Given the description of an element on the screen output the (x, y) to click on. 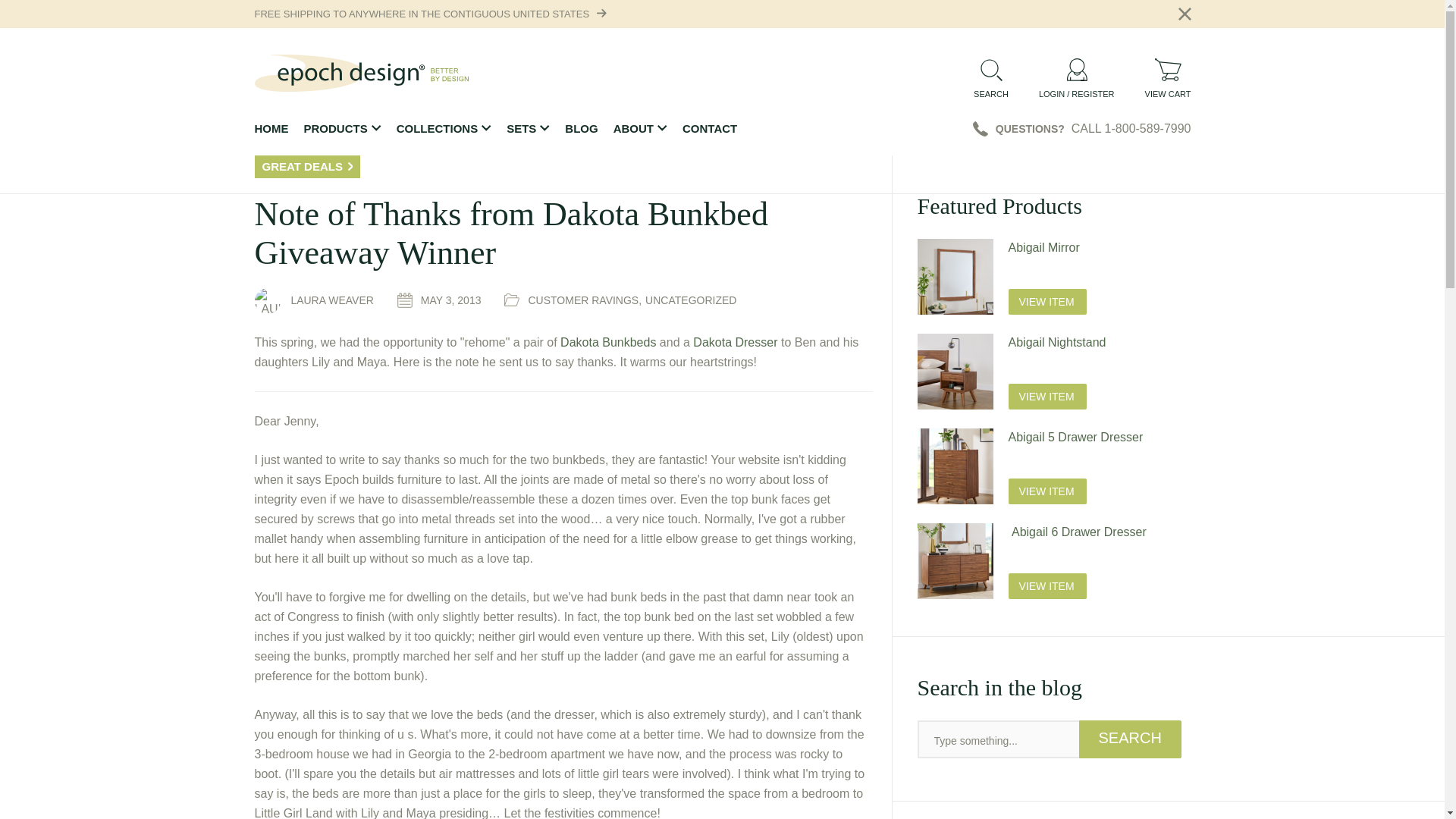
Epoch Design (361, 72)
FREE SHIPPING TO ANYWHERE IN THE CONTIGUOUS UNITED STATES (421, 13)
Epoch Design (361, 72)
Search (1129, 739)
SETS (528, 128)
HOME (271, 128)
Search (1129, 739)
View Cart (1167, 76)
VIEW CART (1167, 76)
PRODUCTS (341, 128)
COLLECTIONS (444, 128)
